Given the description of an element on the screen output the (x, y) to click on. 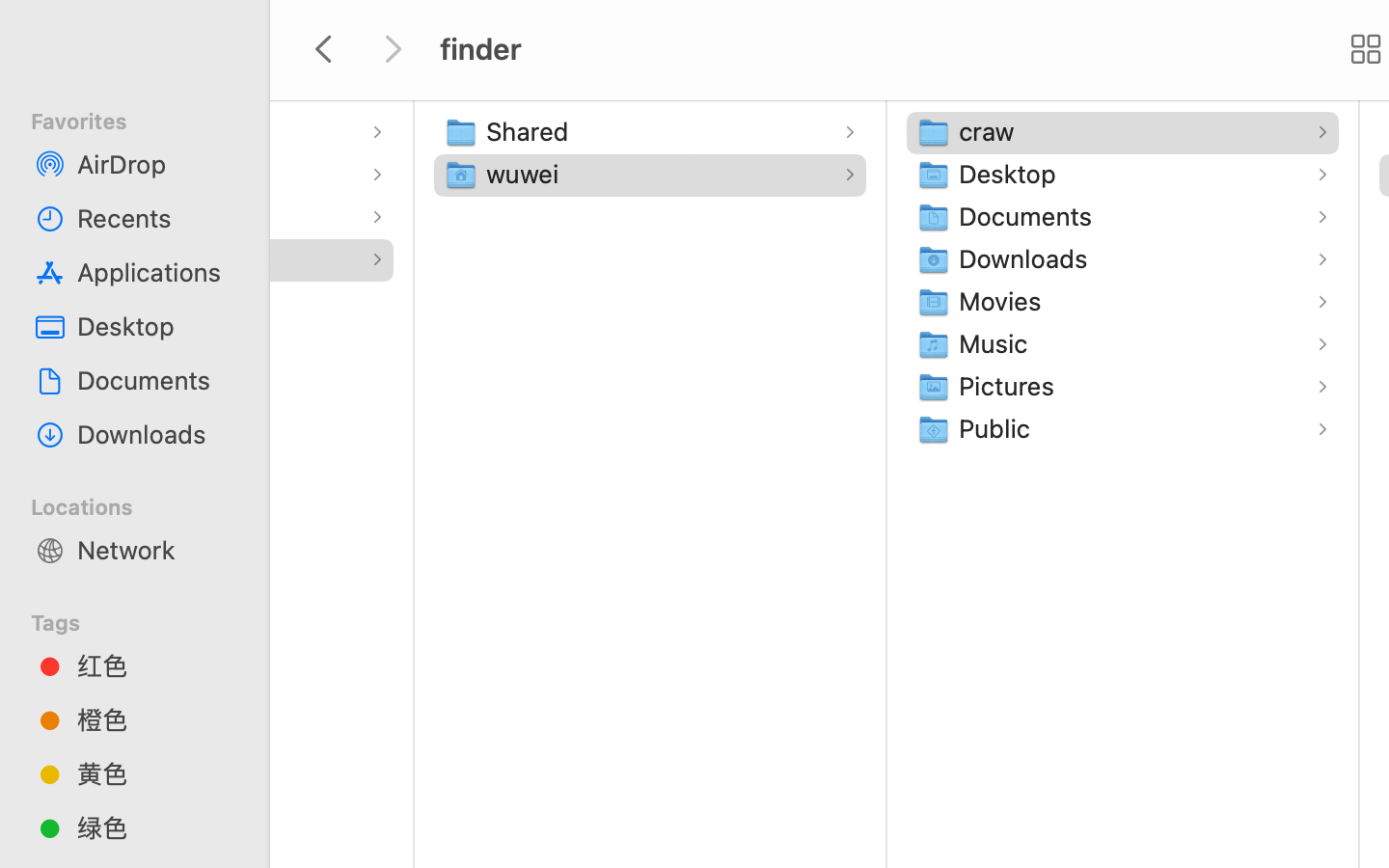
红色 Element type: AXStaticText (155, 665)
橙色 Element type: AXStaticText (155, 719)
Recents Element type: AXStaticText (155, 217)
